Given the description of an element on the screen output the (x, y) to click on. 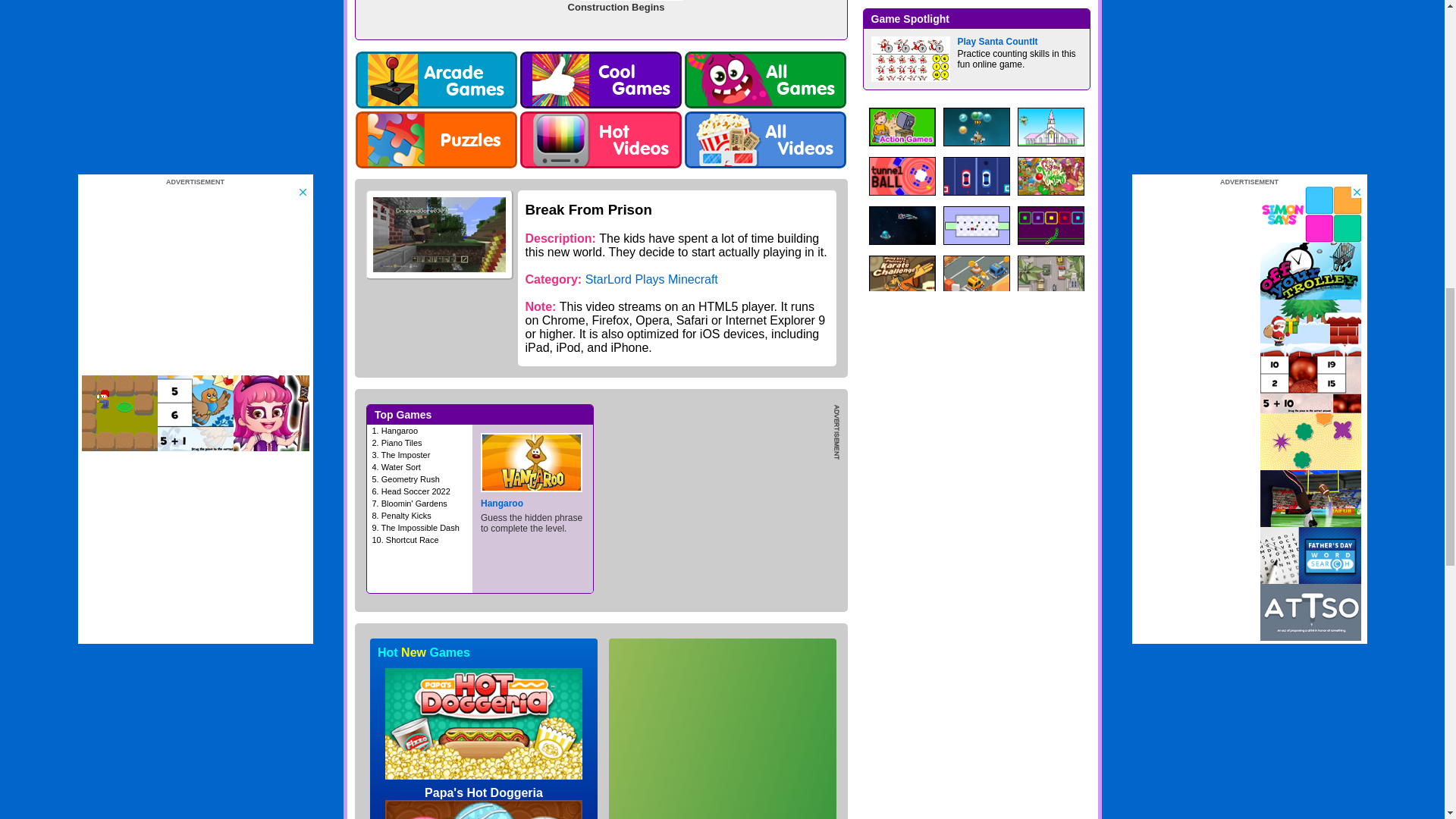
Construction Begins (600, 18)
